Given the description of an element on the screen output the (x, y) to click on. 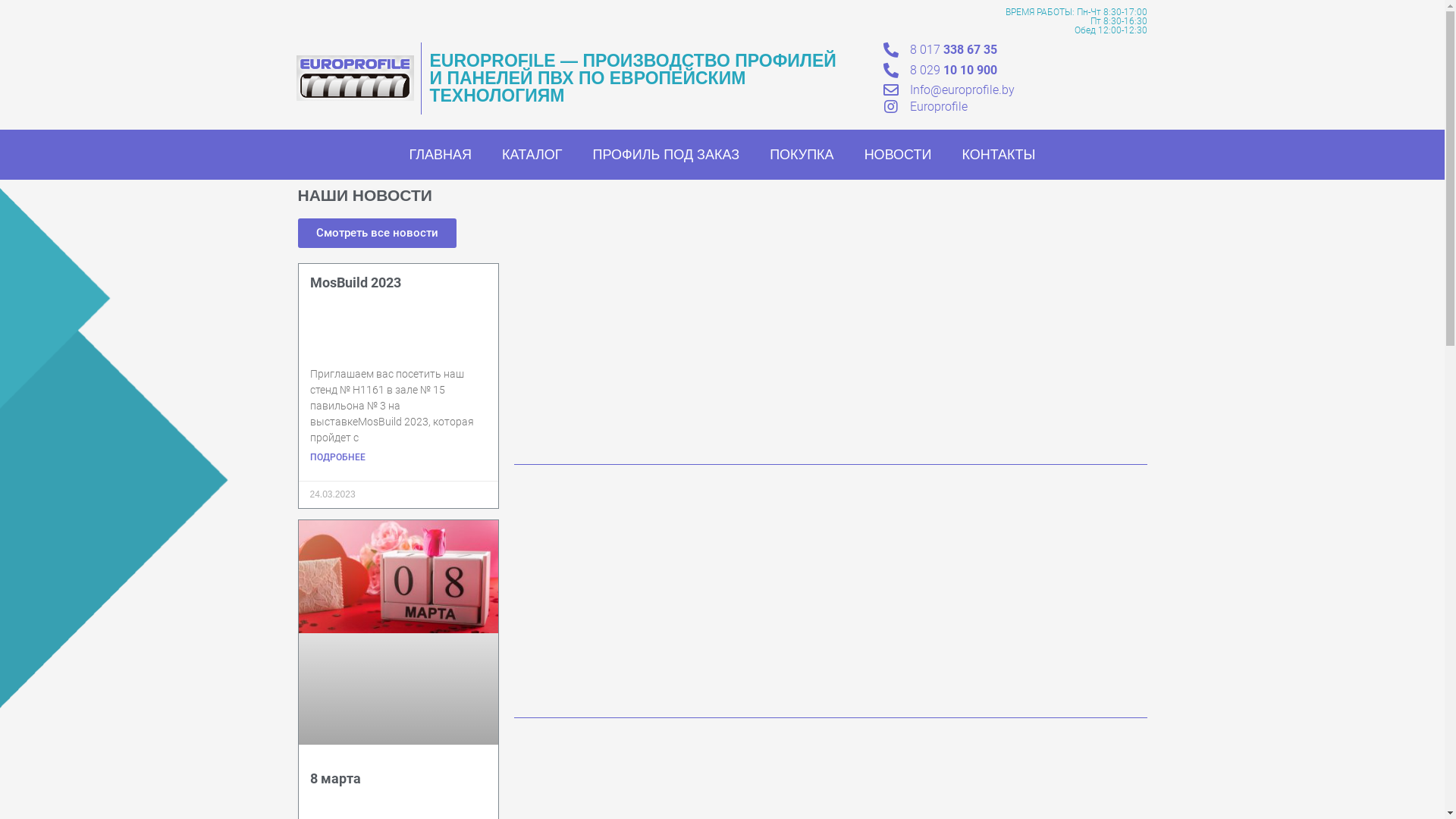
8 029 10 10 900 Element type: text (953, 69)
Europrofile Element type: text (938, 106)
8 017 338 67 35 Element type: text (953, 49)
MosBuild 2023 Element type: text (354, 282)
Info@europrofile.by Element type: text (962, 89)
